Given the description of an element on the screen output the (x, y) to click on. 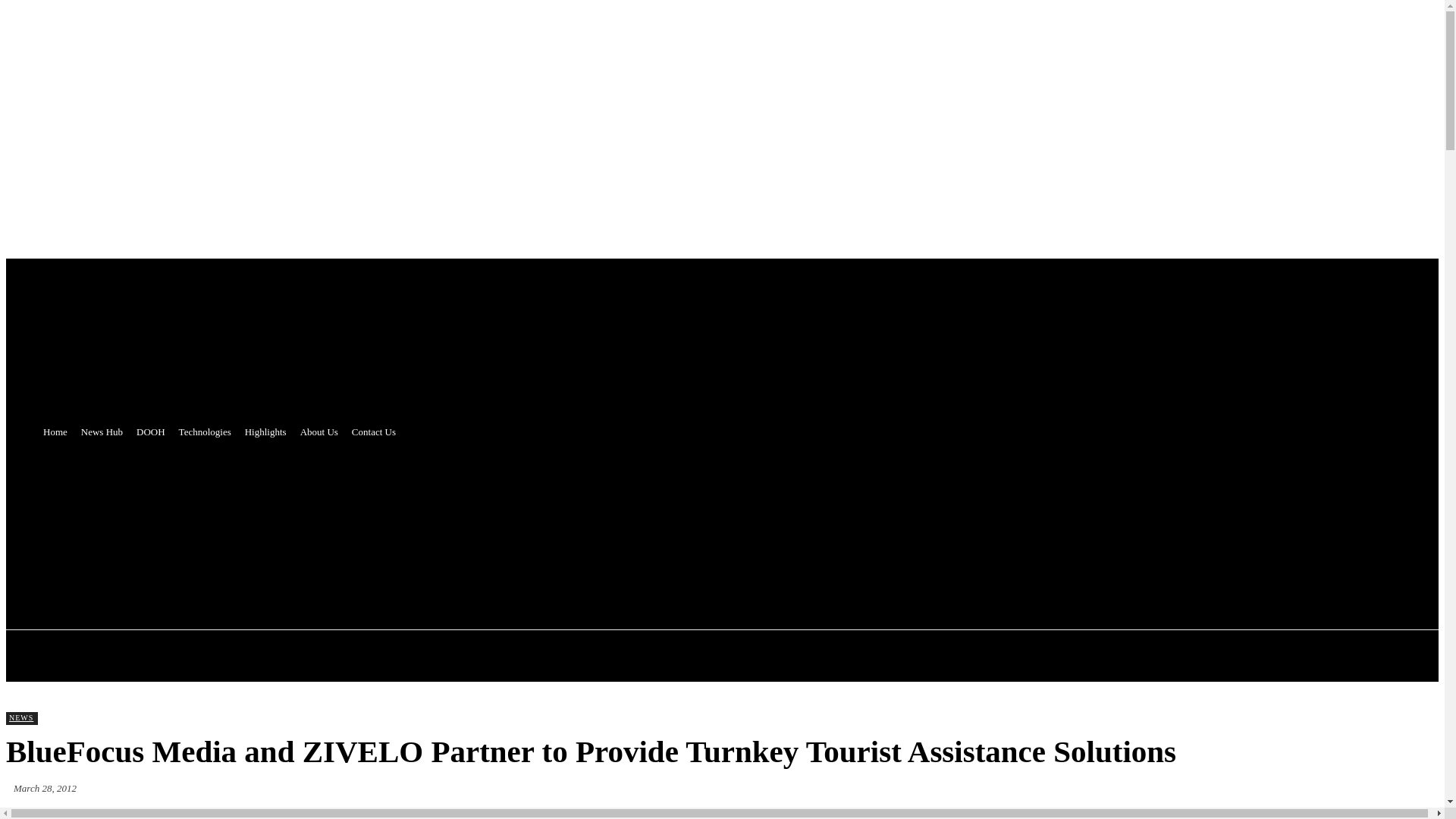
Technologies (204, 432)
Highlights (266, 432)
Forgot your password? Get help (83, 339)
News Hub (101, 432)
DOOH (150, 432)
About Us (319, 432)
Pinterest (406, 525)
Linkedin (462, 525)
Twitter (349, 525)
Login (24, 325)
